Given the description of an element on the screen output the (x, y) to click on. 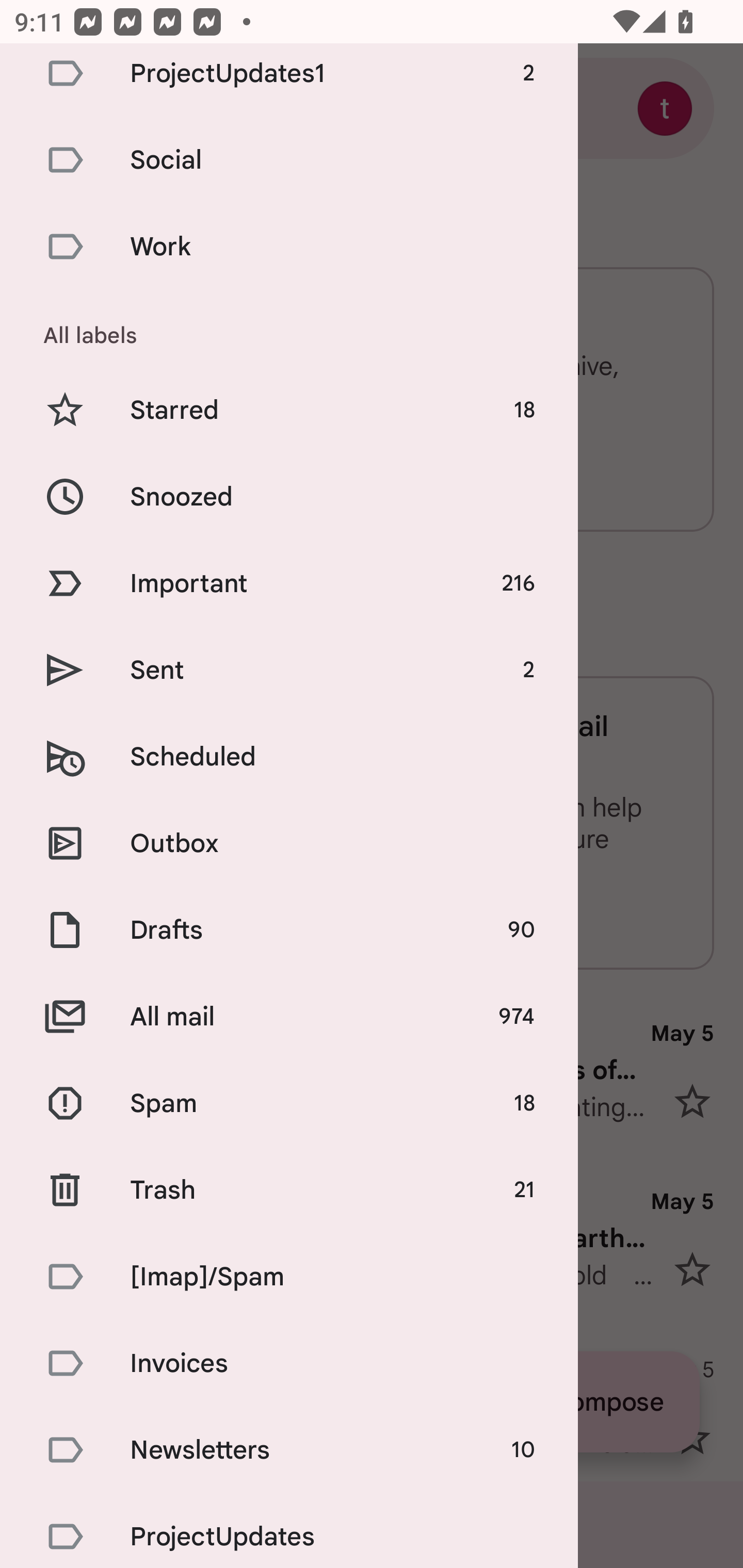
ProjectUpdates1 2 (289, 79)
Social (289, 159)
Work (289, 246)
Starred 18 (289, 409)
Snoozed (289, 496)
Important 216 (289, 583)
Sent 2 (289, 670)
Scheduled (289, 756)
Outbox (289, 842)
Drafts 90 (289, 929)
Spam 18 (289, 1102)
Trash 21 (289, 1190)
[Imap]/Spam (289, 1277)
Invoices (289, 1363)
Newsletters 10 (289, 1449)
ProjectUpdates (289, 1530)
